Given the description of an element on the screen output the (x, y) to click on. 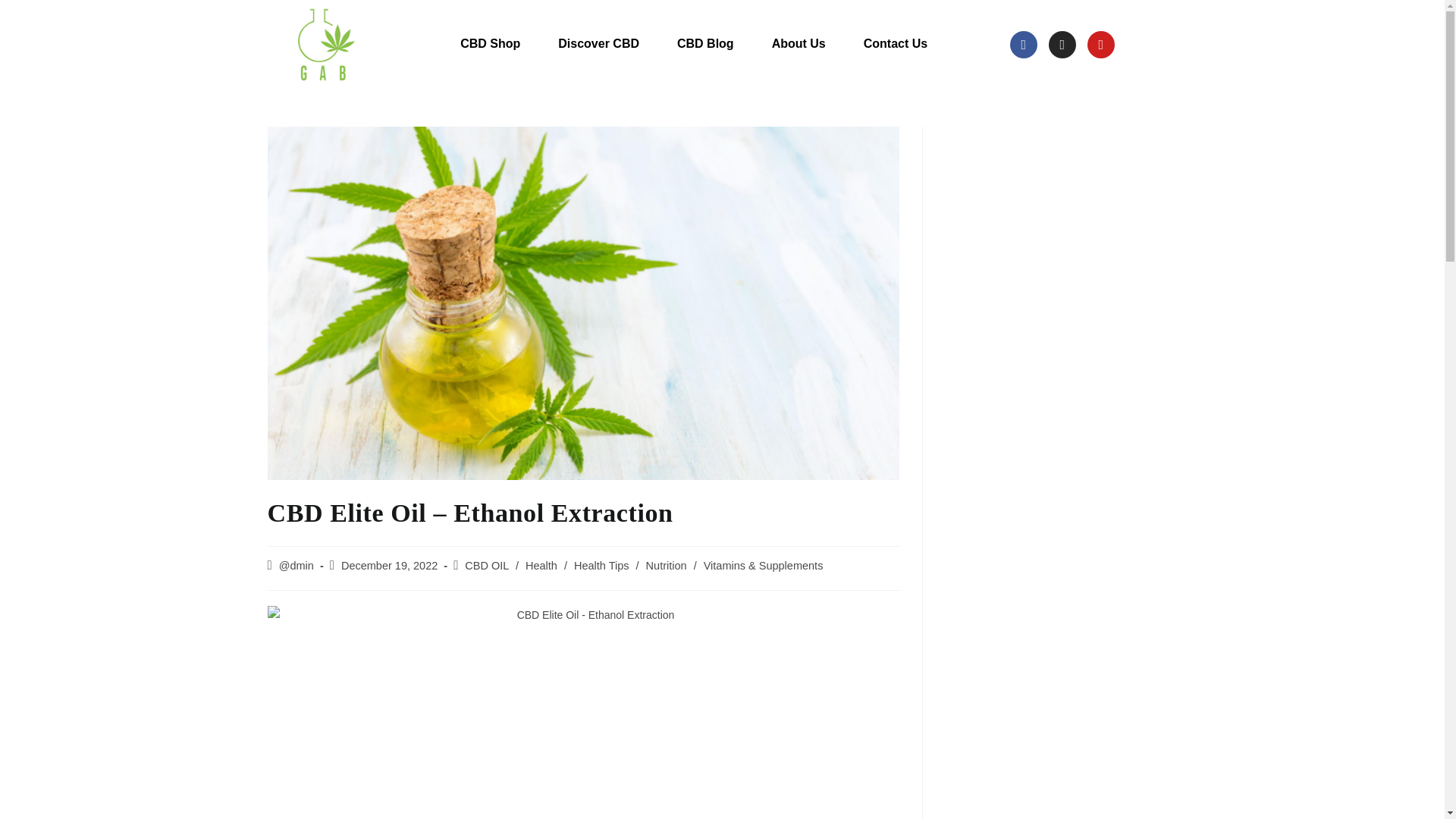
Health (541, 565)
Nutrition (666, 565)
Health Tips (600, 565)
CBD OIL (486, 565)
Discover CBD (602, 44)
About Us (802, 44)
CBD Blog (709, 44)
CBD Shop (494, 44)
Contact Us (899, 44)
